Given the description of an element on the screen output the (x, y) to click on. 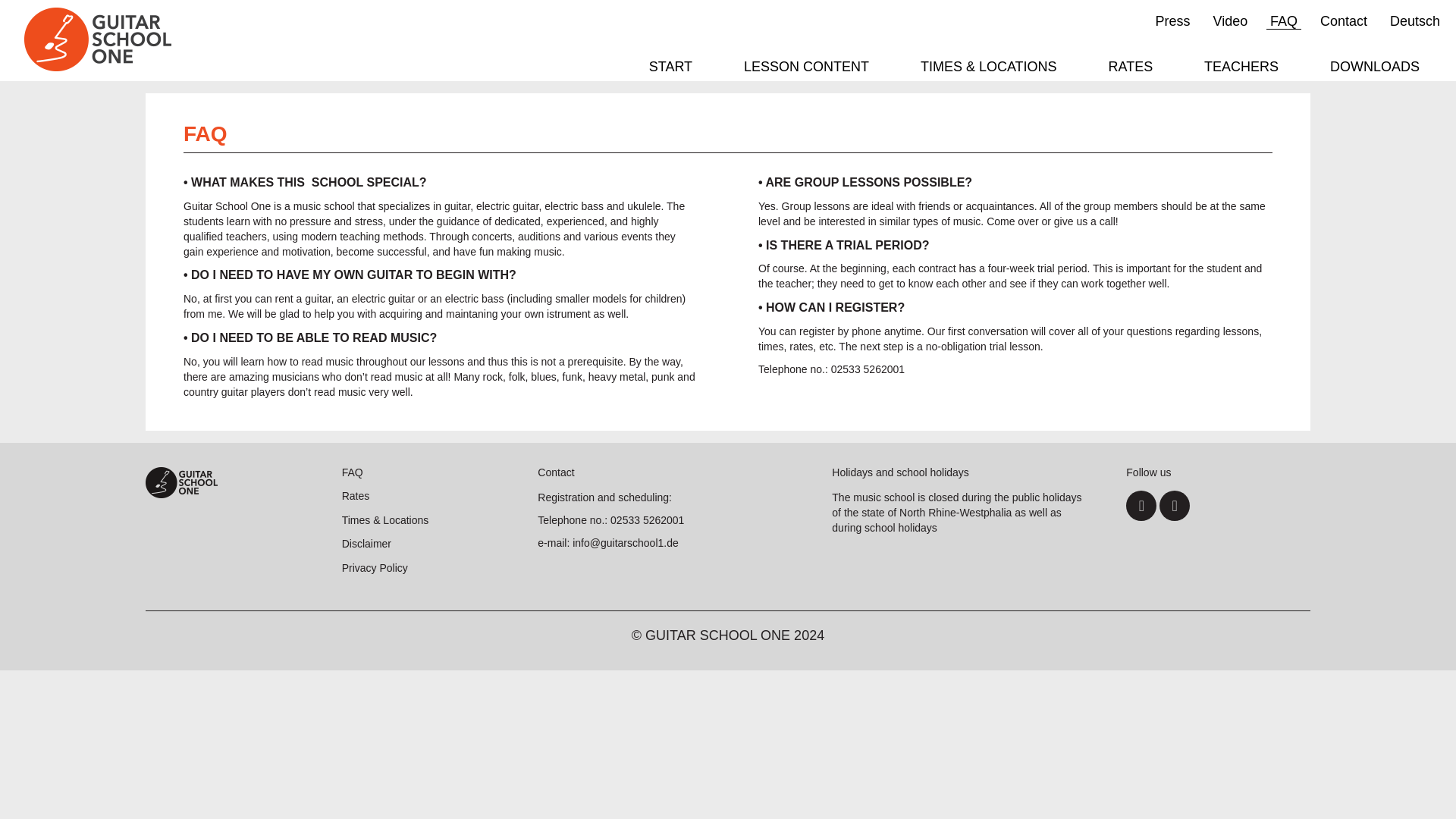
RATES (1130, 69)
Deutsch (1415, 21)
Deutsch (1415, 21)
TEACHERS (1241, 69)
FAQ (1283, 21)
Rates (355, 495)
Privacy Policy (374, 567)
Contact (1343, 21)
FAQ (352, 472)
Disclaimer (366, 543)
Video (1229, 21)
LESSON CONTENT (806, 69)
DOWNLOADS (1375, 69)
Press (1172, 21)
START (670, 69)
